Given the description of an element on the screen output the (x, y) to click on. 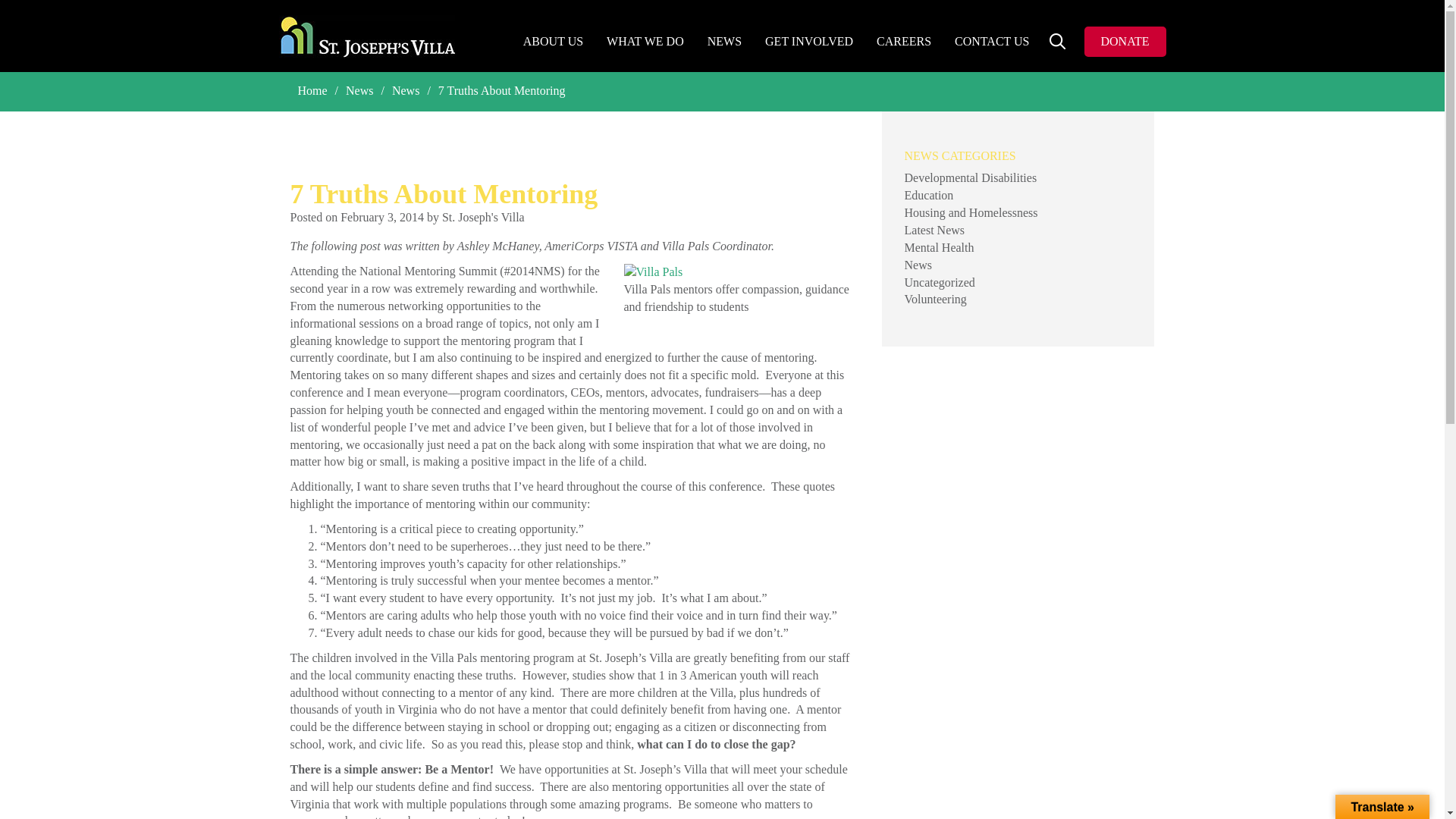
Go to St. Joseph's Villa. (312, 90)
WHAT WE DO (645, 41)
Go to the News category archives. (405, 90)
Go to News. (359, 90)
ABOUT US (553, 41)
